Given the description of an element on the screen output the (x, y) to click on. 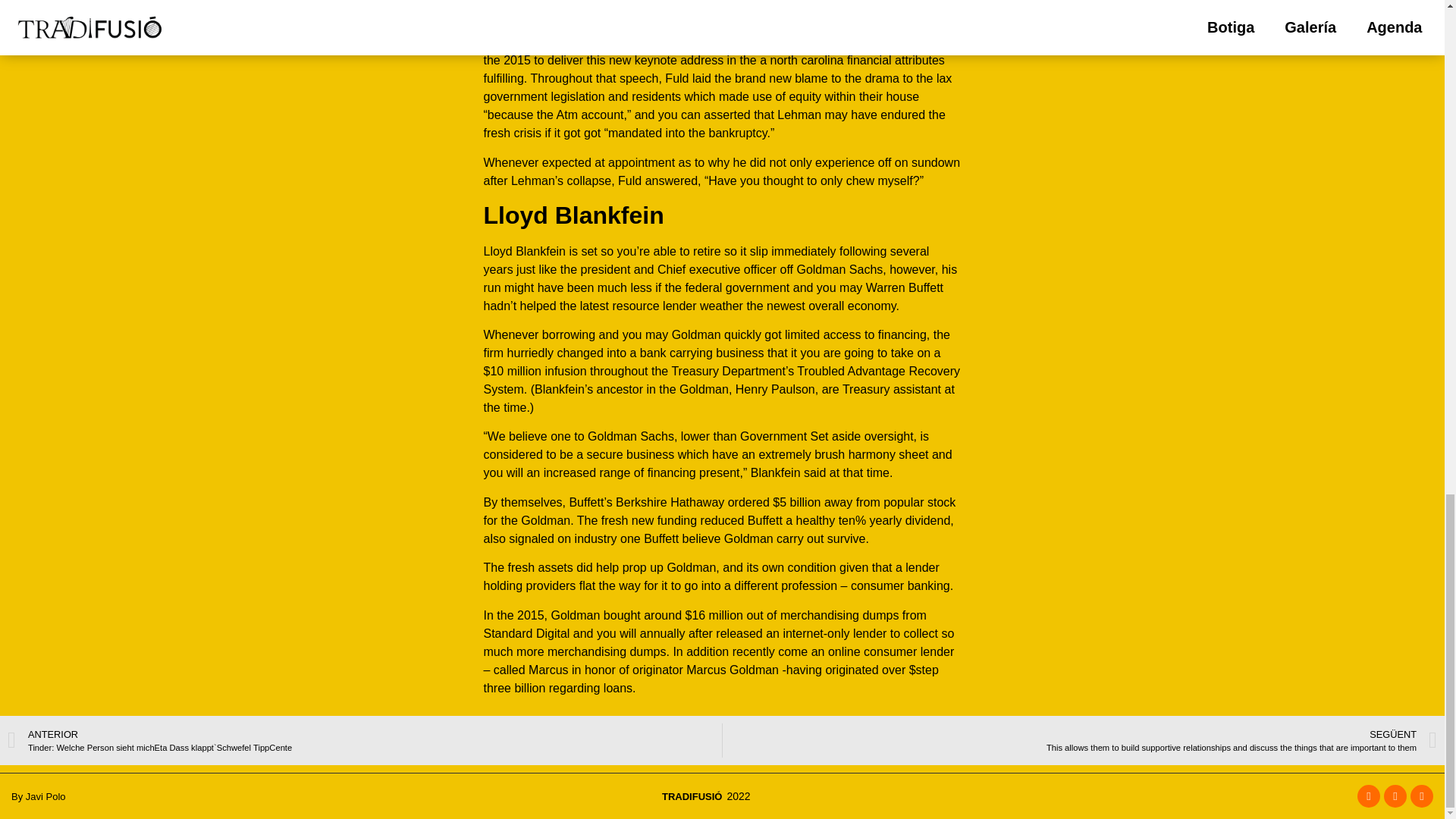
2022 (735, 795)
